Given the description of an element on the screen output the (x, y) to click on. 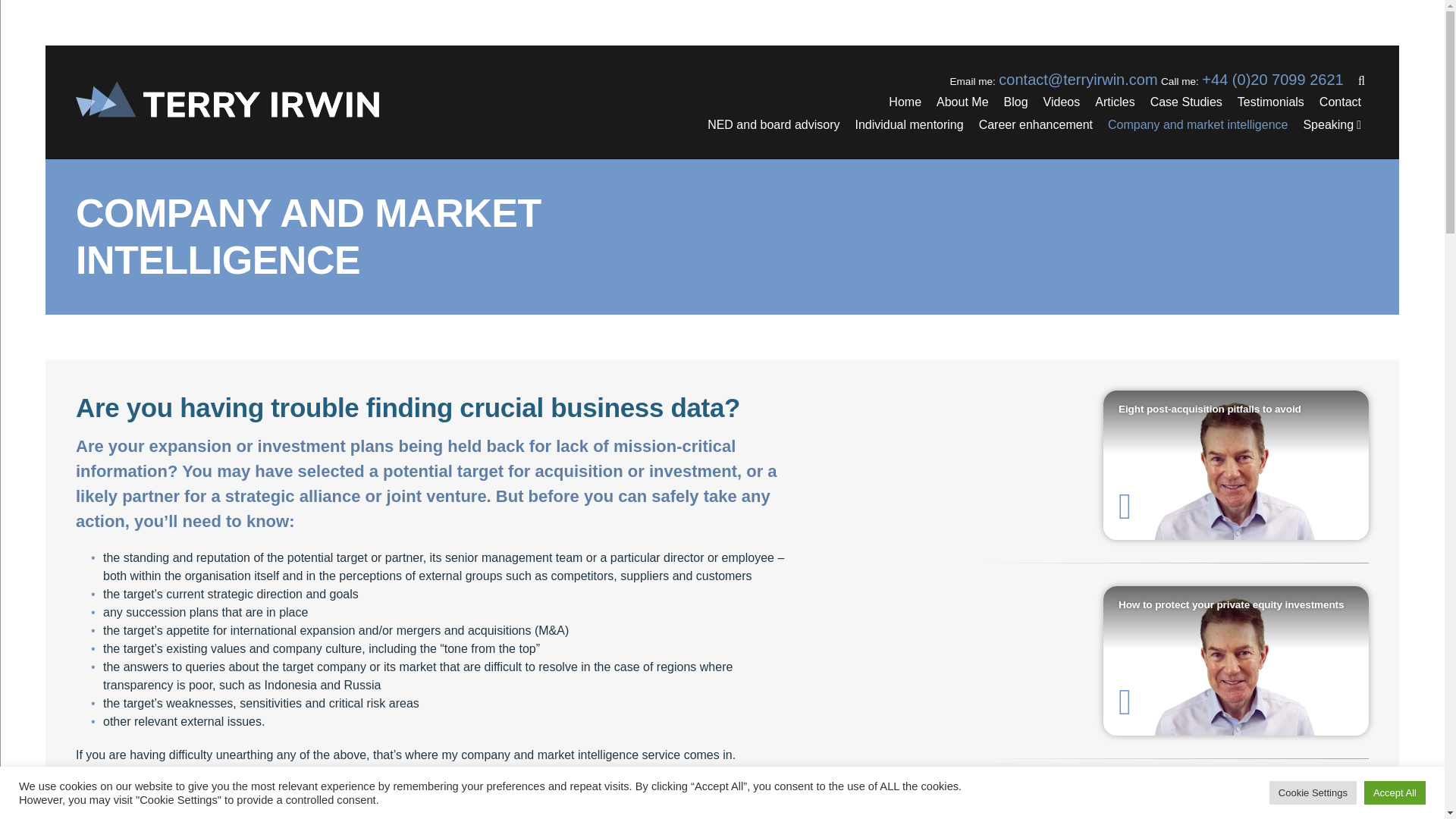
Articles (1114, 101)
Career enhancement (1035, 124)
Company and market intelligence (1197, 124)
Videos (1061, 101)
Search (863, 8)
About Me (961, 101)
Home (904, 101)
Case Studies (1186, 101)
Contact (1339, 101)
NED and board advisory (773, 124)
